Given the description of an element on the screen output the (x, y) to click on. 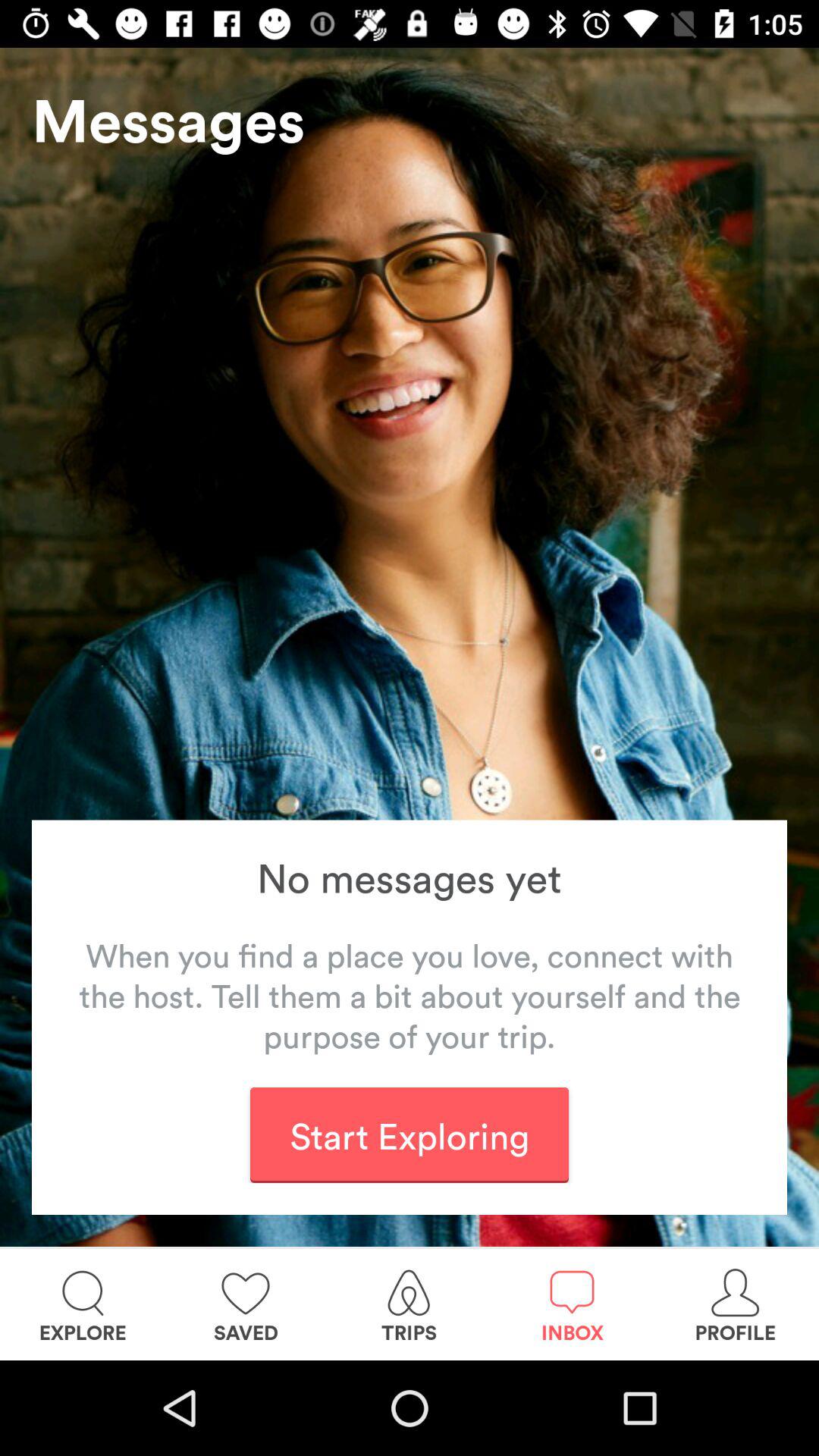
tap item below the when you find icon (409, 1135)
